Given the description of an element on the screen output the (x, y) to click on. 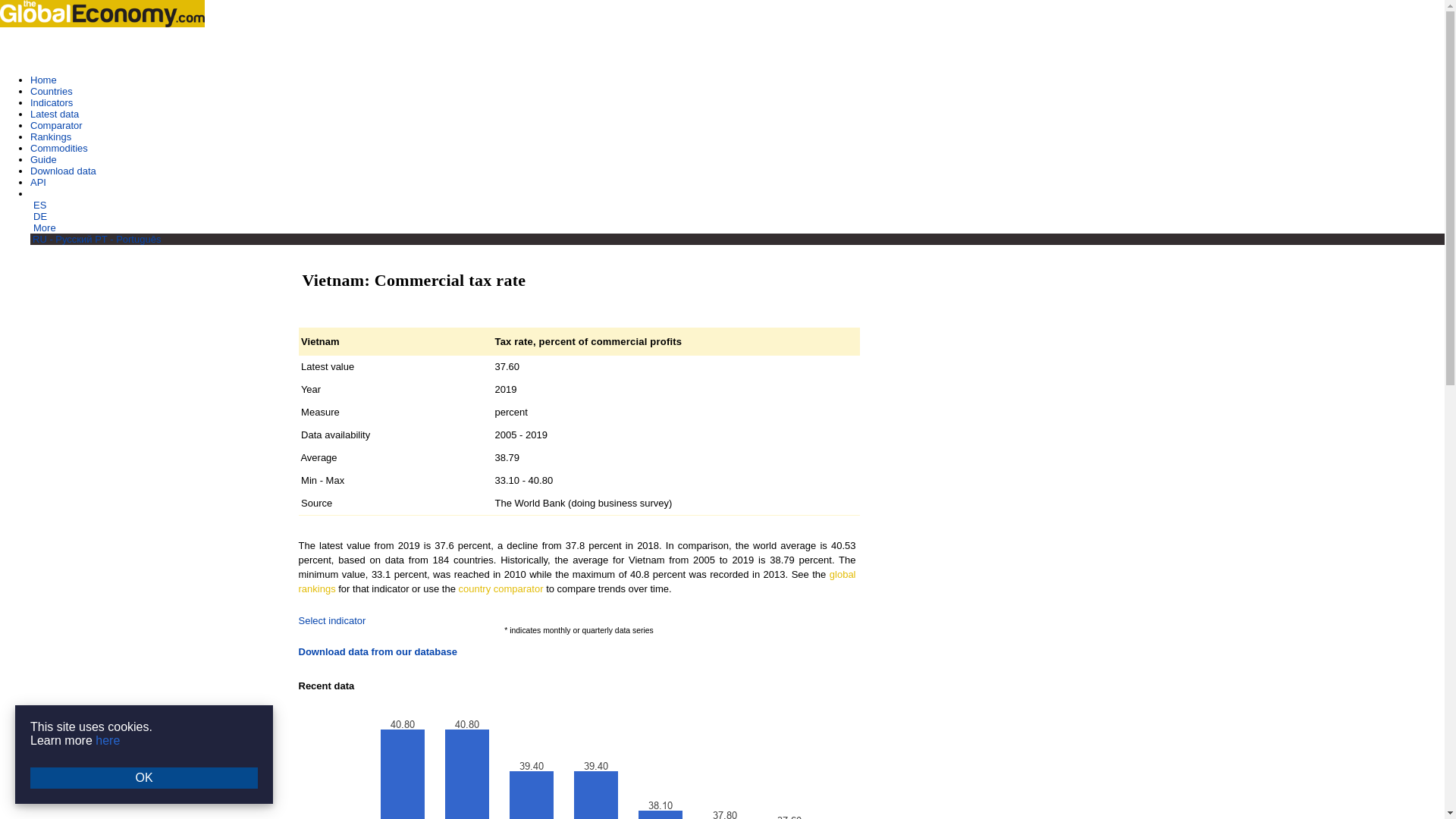
Rankings (50, 136)
Download data from our database (377, 651)
Indicators (51, 102)
Countries (51, 91)
More (44, 227)
EN (38, 193)
Comparator (56, 125)
DE (39, 215)
country comparator (500, 588)
ES (39, 204)
